Given the description of an element on the screen output the (x, y) to click on. 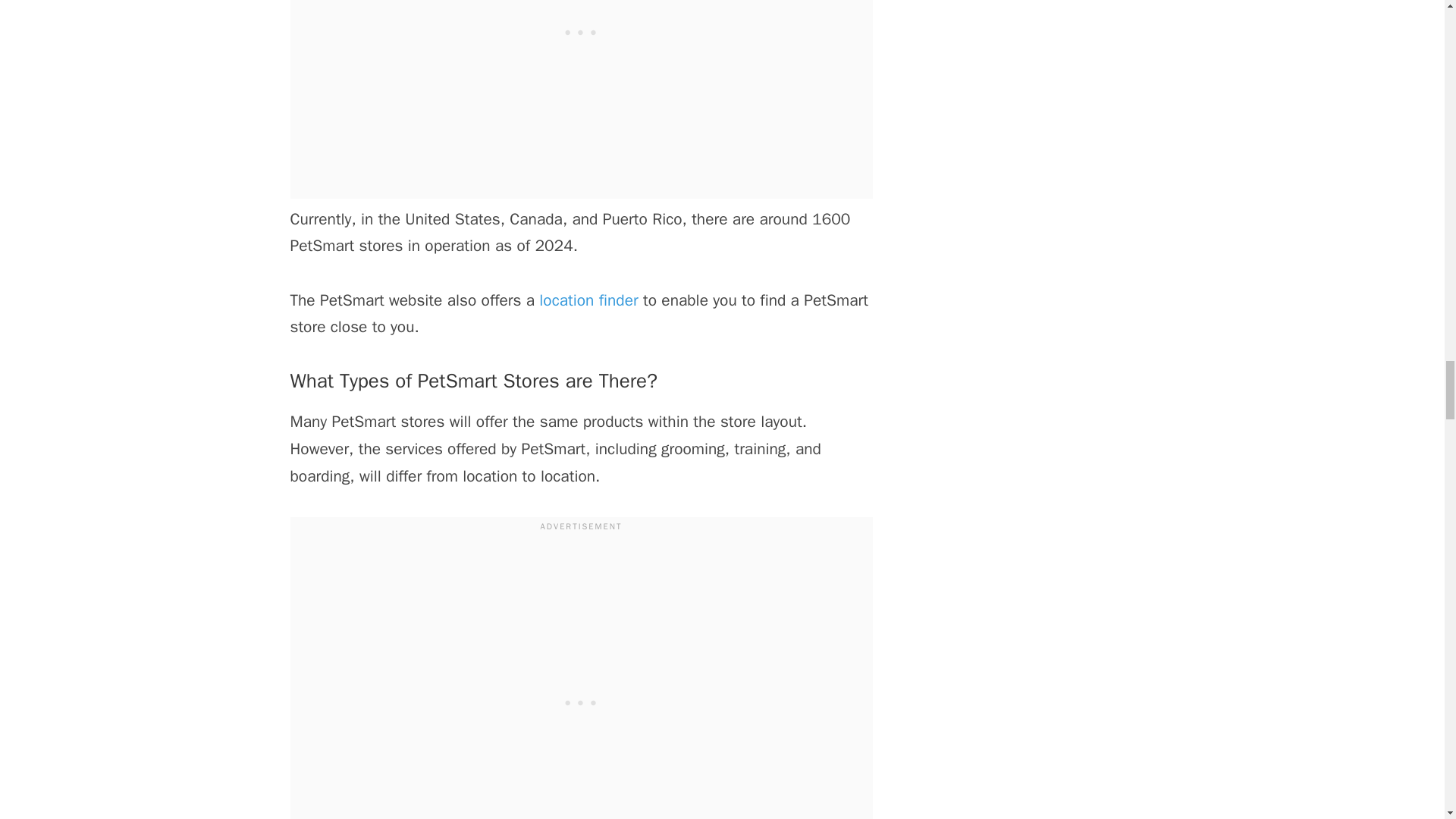
location finder (587, 300)
